Given the description of an element on the screen output the (x, y) to click on. 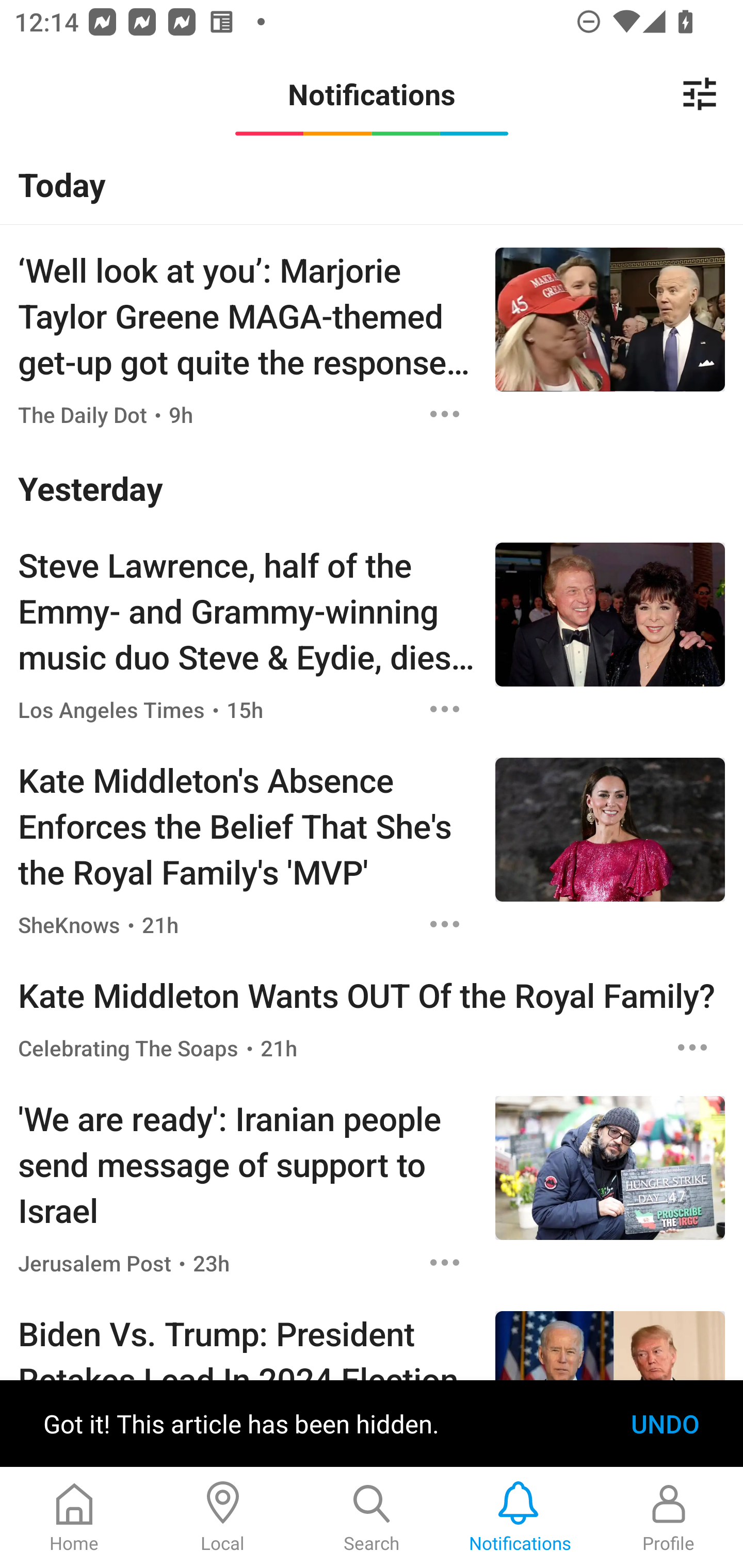
Notification Settings (699, 93)
Options (444, 413)
Yesterday (371, 488)
Options (444, 708)
Options (444, 924)
Options (692, 1047)
Options (444, 1262)
UNDO (665, 1423)
Home (74, 1517)
Local (222, 1517)
Search (371, 1517)
Profile (668, 1517)
